Given the description of an element on the screen output the (x, y) to click on. 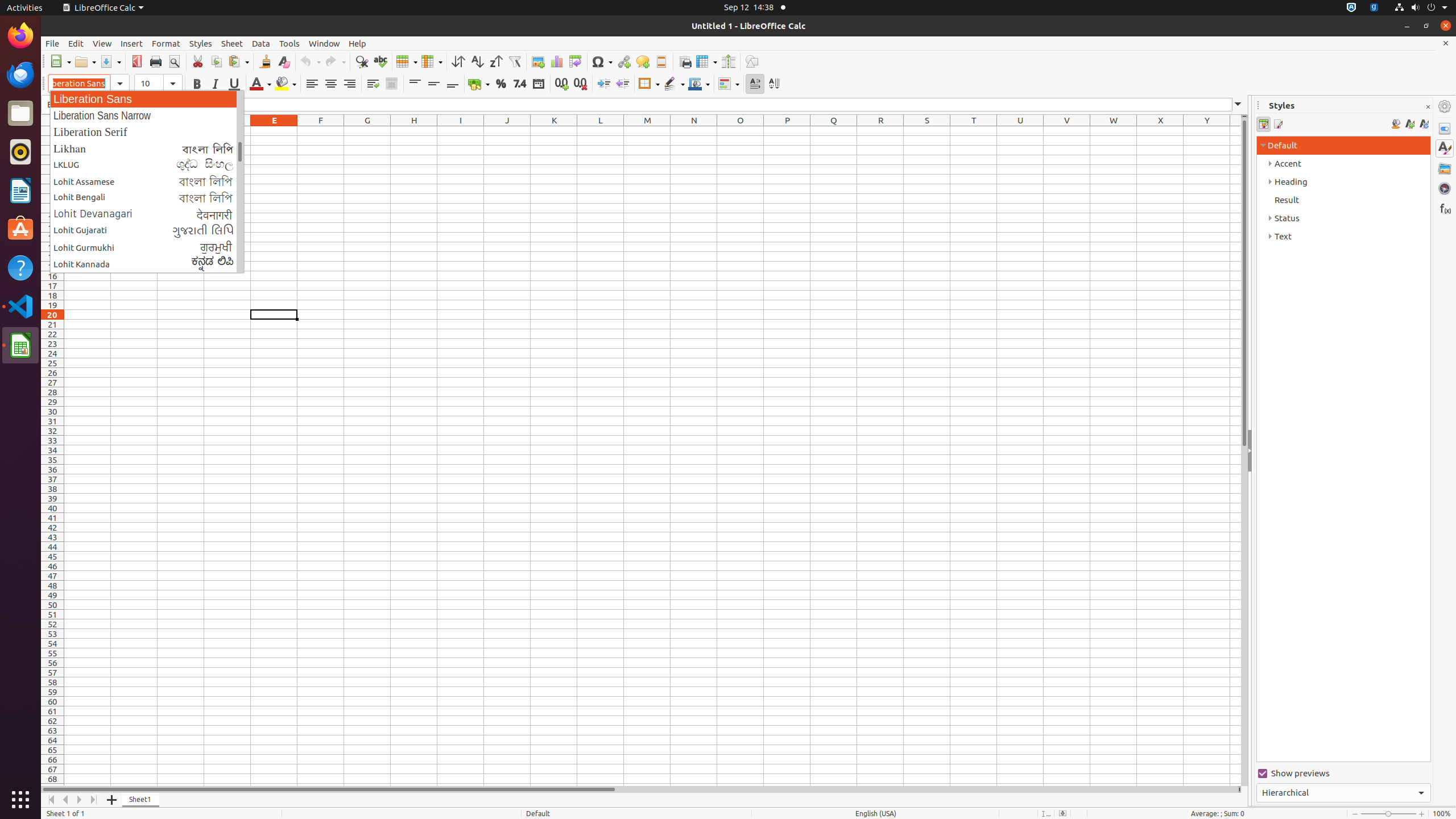
Tools Element type: menu (289, 43)
J1 Element type: table-cell (507, 130)
X1 Element type: table-cell (1159, 130)
